Given the description of an element on the screen output the (x, y) to click on. 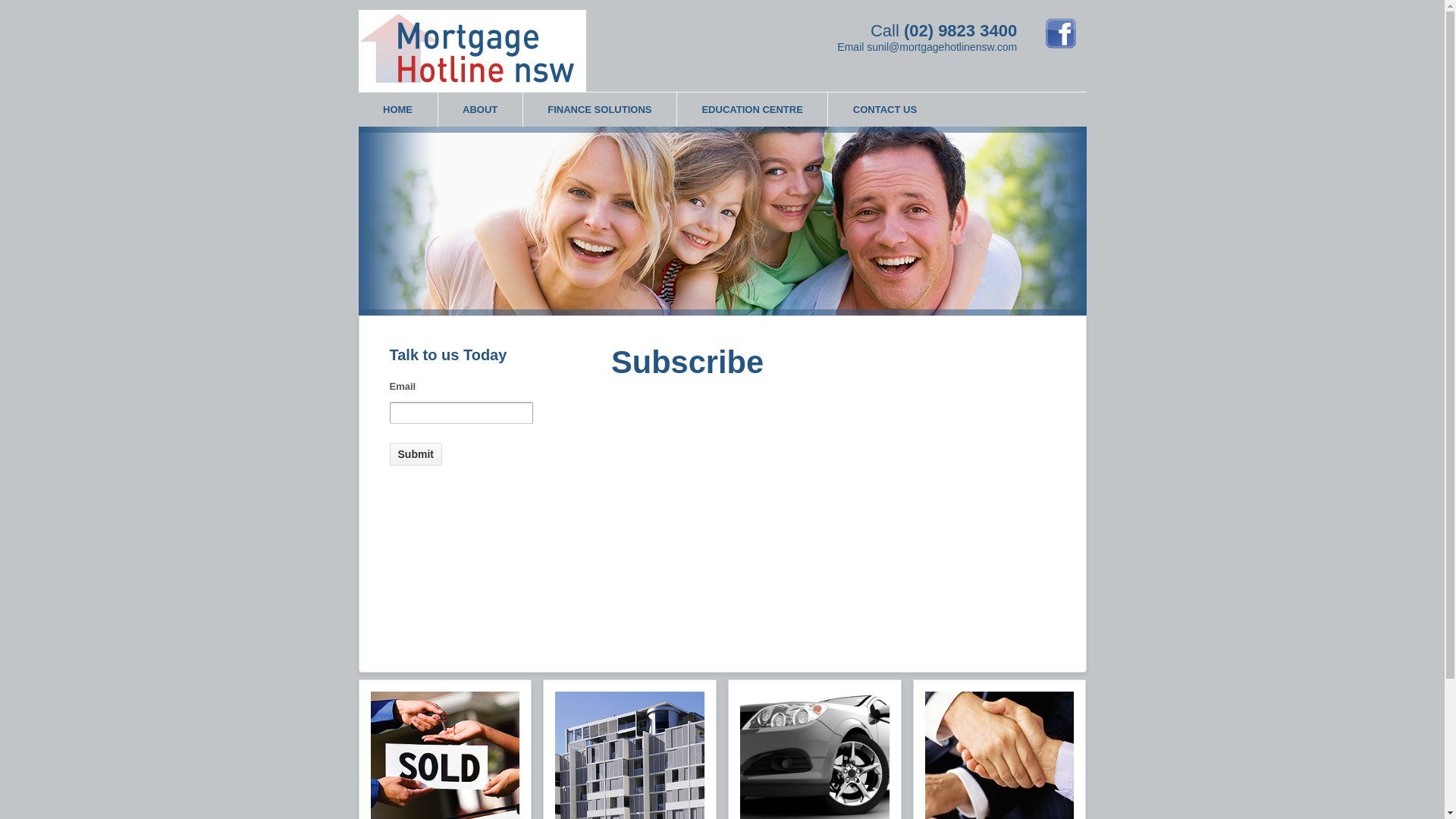
CONTACT US Element type: text (884, 109)
Submit Element type: text (415, 453)
HOME Element type: text (396, 109)
sunil@mortgagehotlinensw.com Element type: text (941, 46)
EDUCATION CENTRE Element type: text (751, 109)
FINANCE SOLUTIONS Element type: text (599, 109)
ABOUT Element type: text (478, 109)
